Given the description of an element on the screen output the (x, y) to click on. 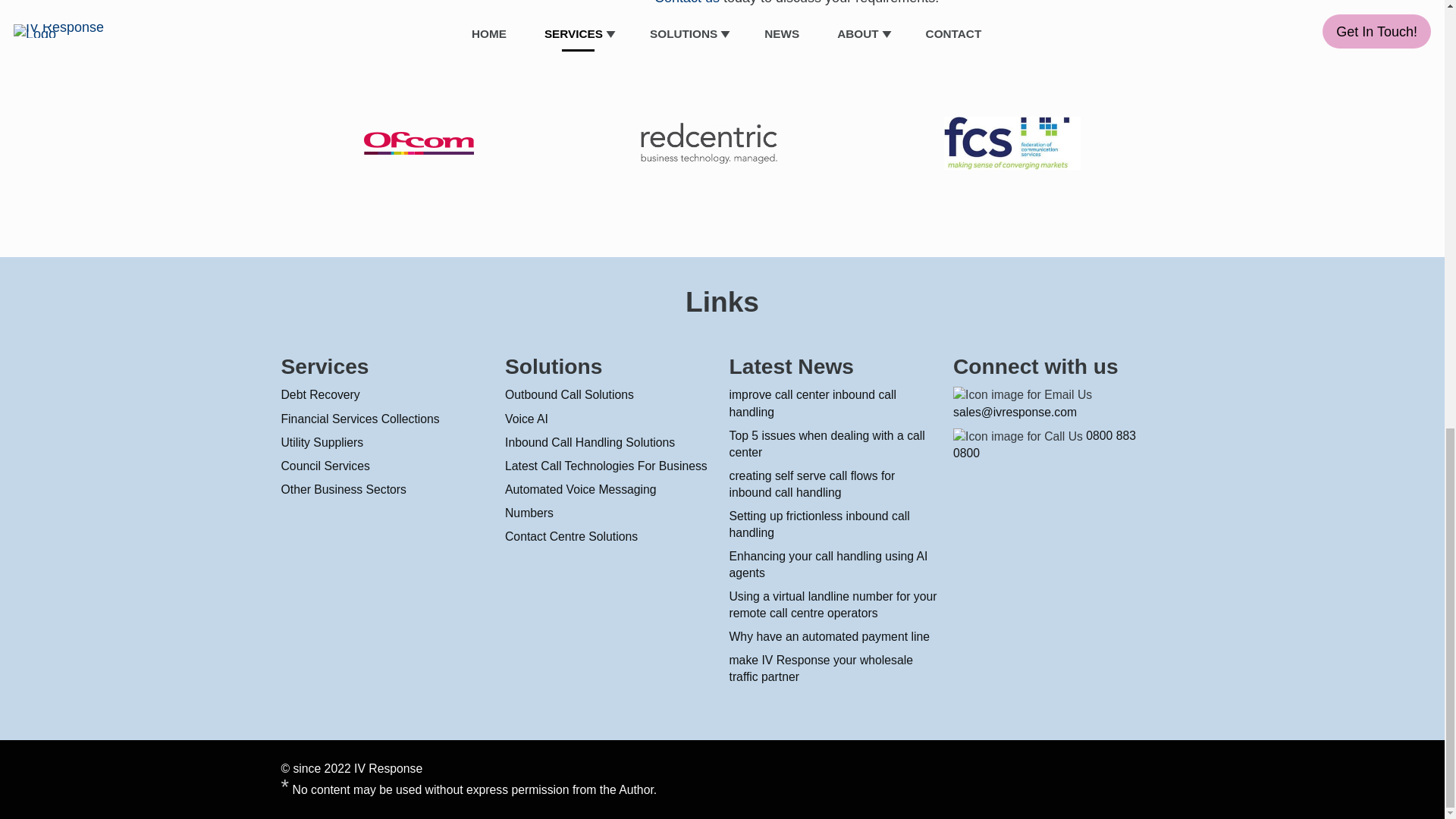
Contact Centre Solutions (571, 536)
Financial Services Collections (360, 419)
Visit Ofcom (419, 150)
Council Services (325, 466)
Debt Recovery Services Item (320, 395)
Voice AI (526, 419)
Utility Suppliers (321, 442)
Utility Suppliers Services Item (321, 442)
Outbound Call Solutions (569, 395)
Latest Call Technologies For Business (606, 466)
